Given the description of an element on the screen output the (x, y) to click on. 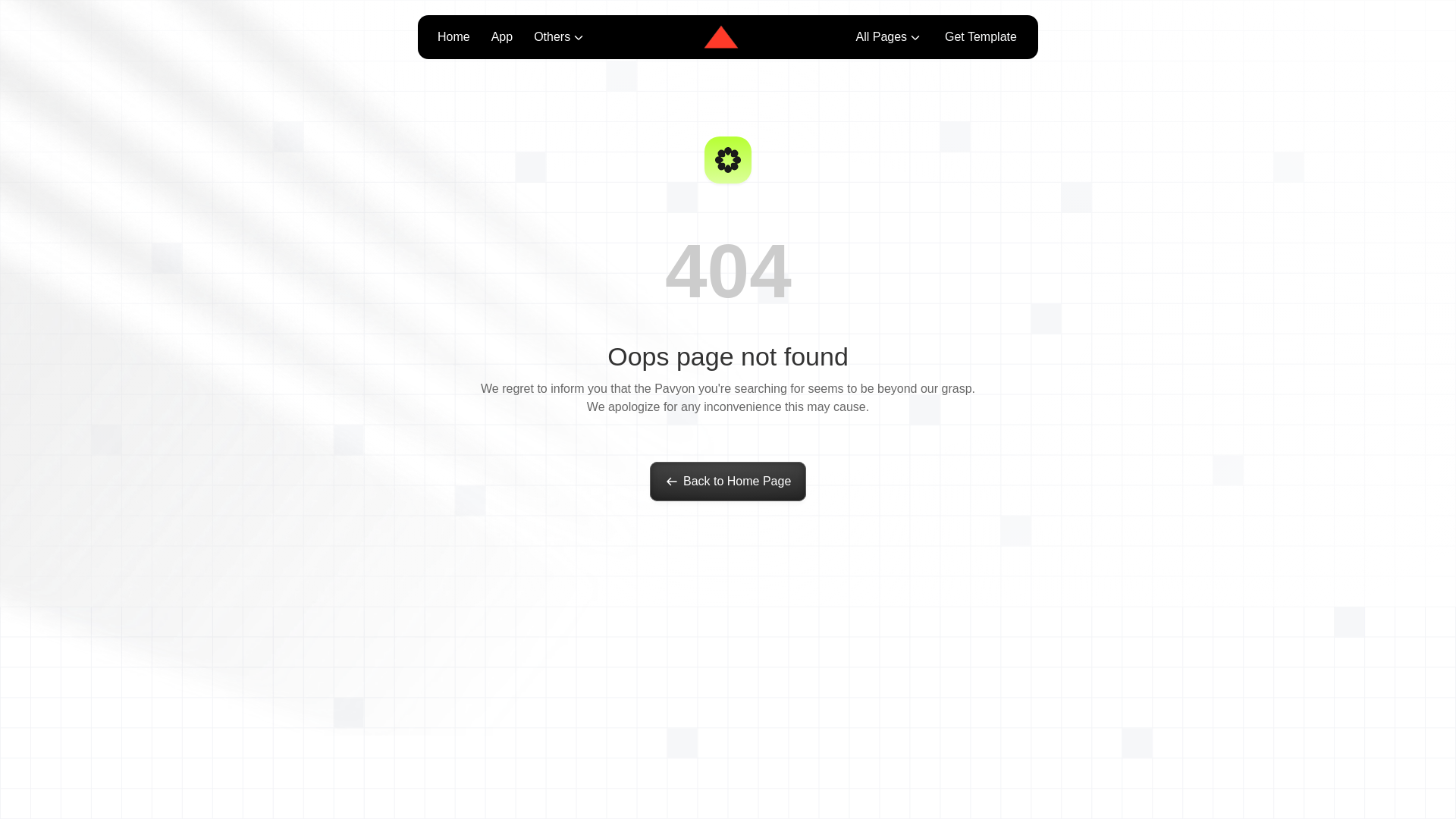
Back to Home Page (727, 481)
Home (453, 36)
App (501, 36)
Get Template (981, 36)
